Given the description of an element on the screen output the (x, y) to click on. 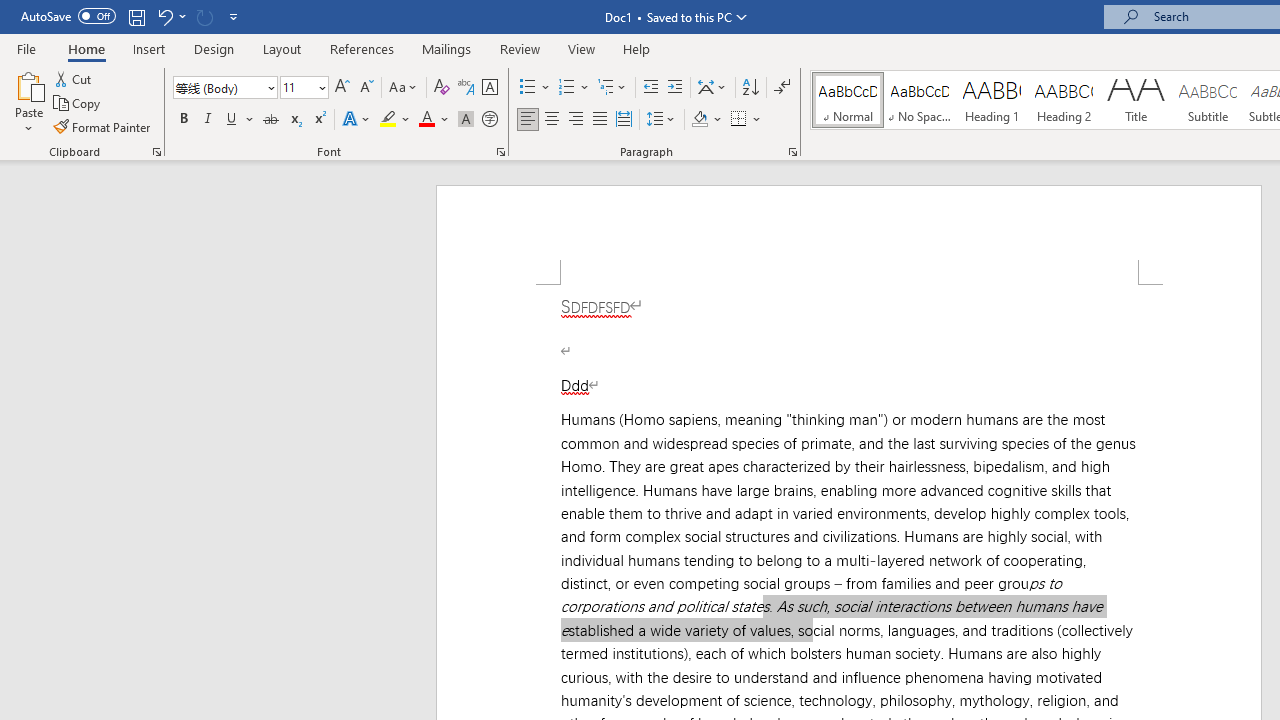
Sort... (750, 87)
Design (214, 48)
File Tab (26, 48)
Underline (239, 119)
Paste (28, 84)
